Given the description of an element on the screen output the (x, y) to click on. 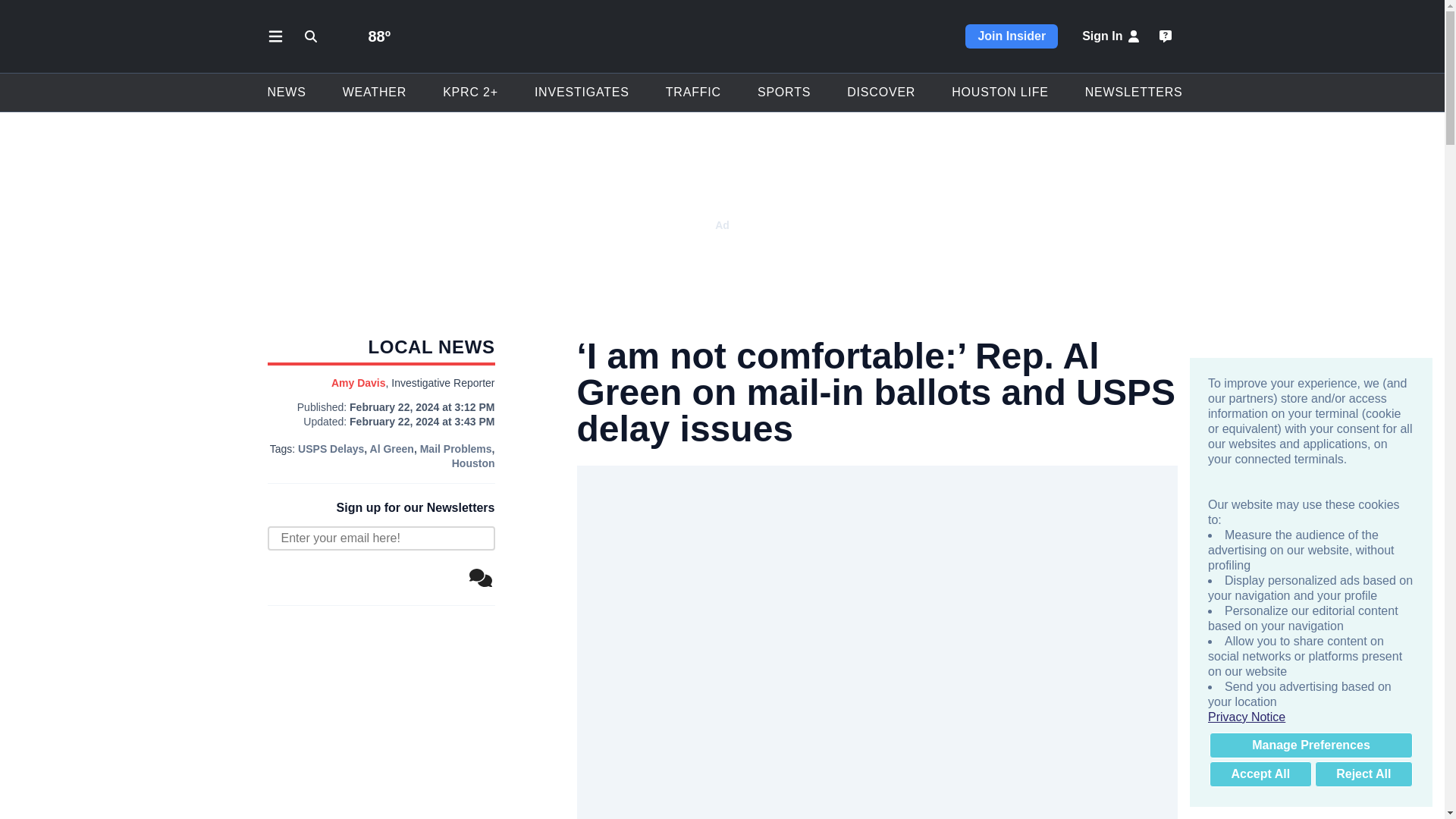
Sign In (1111, 36)
Manage Preferences (1310, 745)
Accept All (1260, 774)
Privacy Notice (1310, 717)
Join Insider (1011, 36)
Reject All (1363, 774)
